Given the description of an element on the screen output the (x, y) to click on. 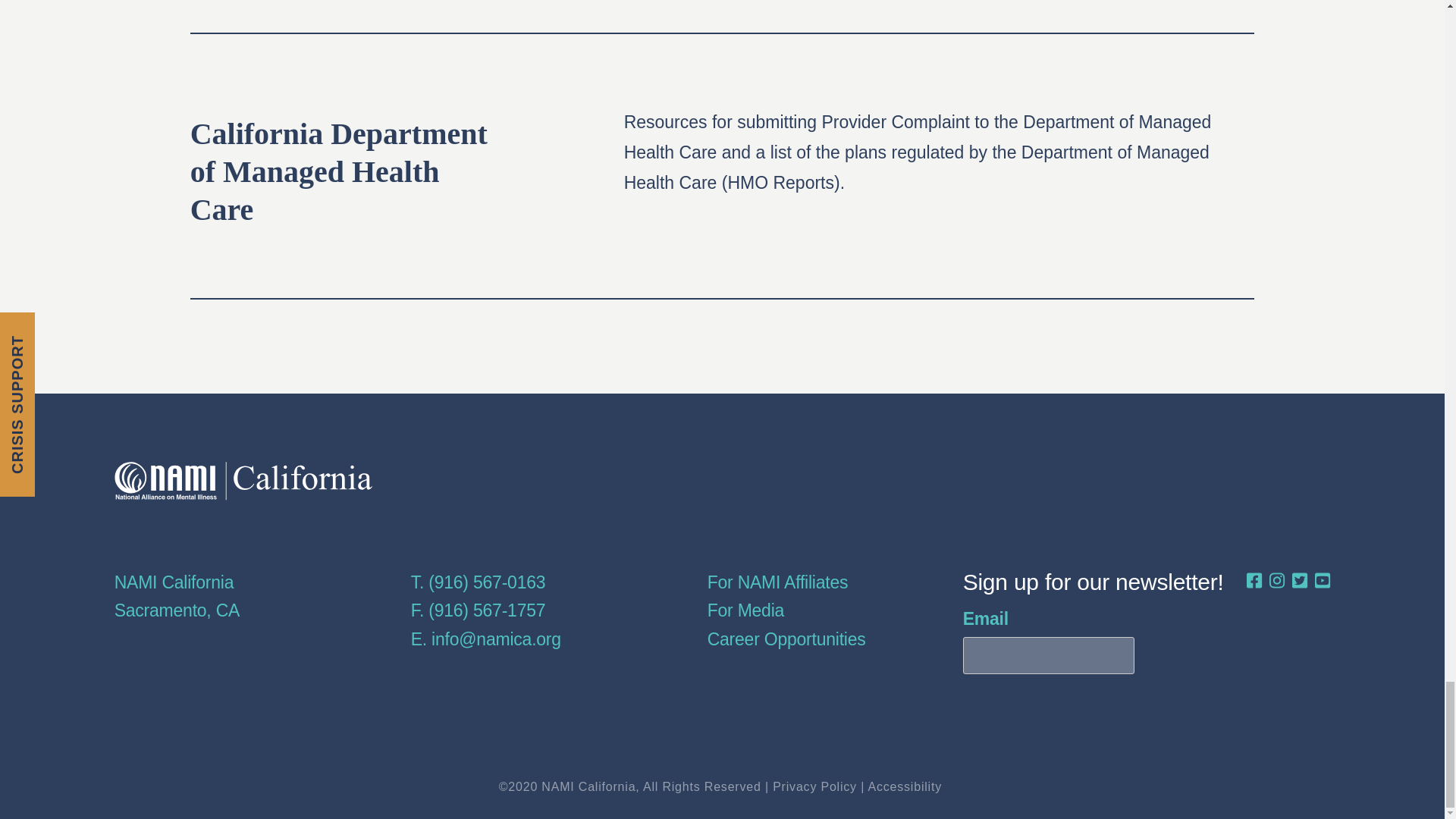
Site Logo (243, 480)
